Given the description of an element on the screen output the (x, y) to click on. 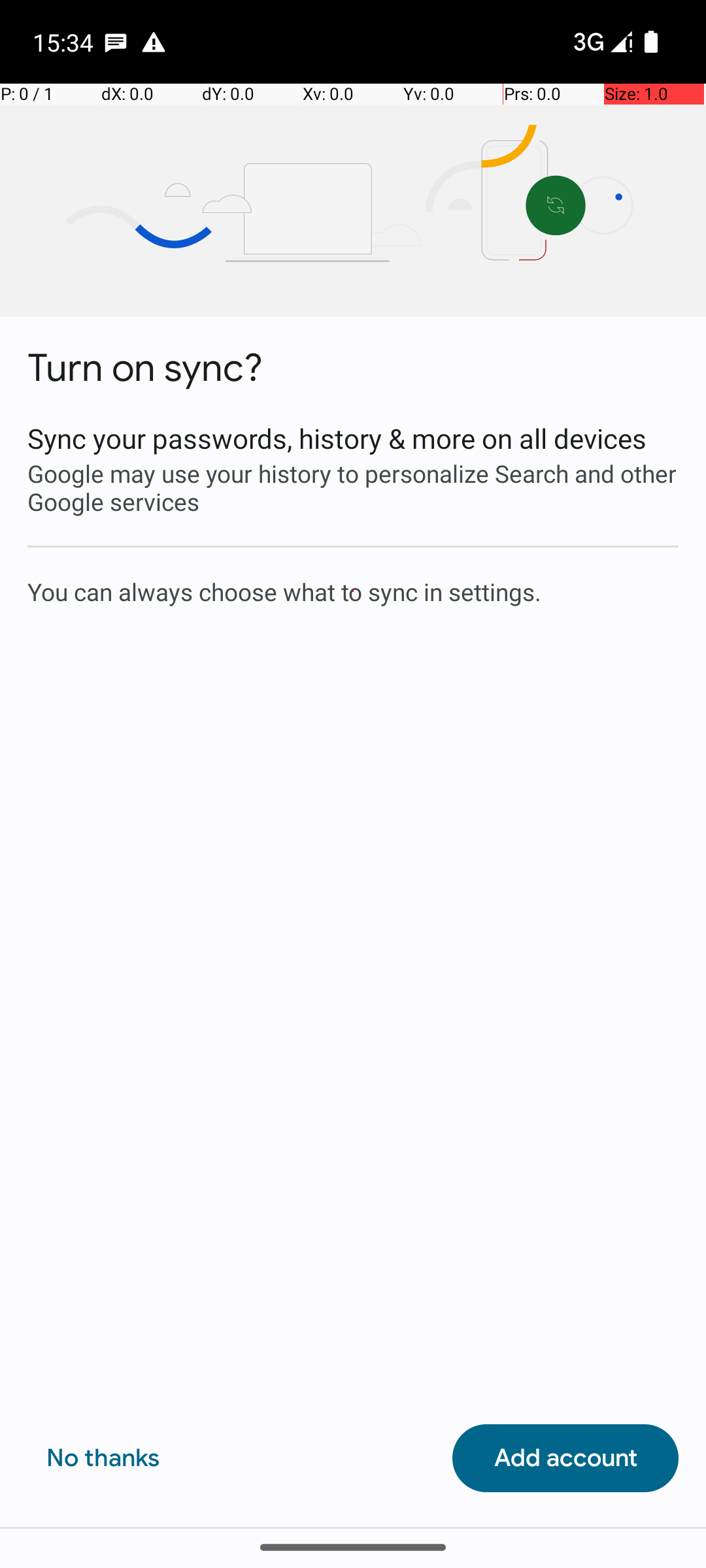
No thanks Element type: android.widget.Button (102, 1458)
Add account Element type: android.widget.Button (565, 1458)
Turn on sync? Element type: android.widget.TextView (144, 368)
Sync your passwords, history & more on all devices Element type: android.widget.TextView (352, 437)
Google may use your history to personalize Search and other Google services Element type: android.widget.TextView (352, 487)
You can always choose what to sync in settings. Element type: android.widget.TextView (352, 591)
